Given the description of an element on the screen output the (x, y) to click on. 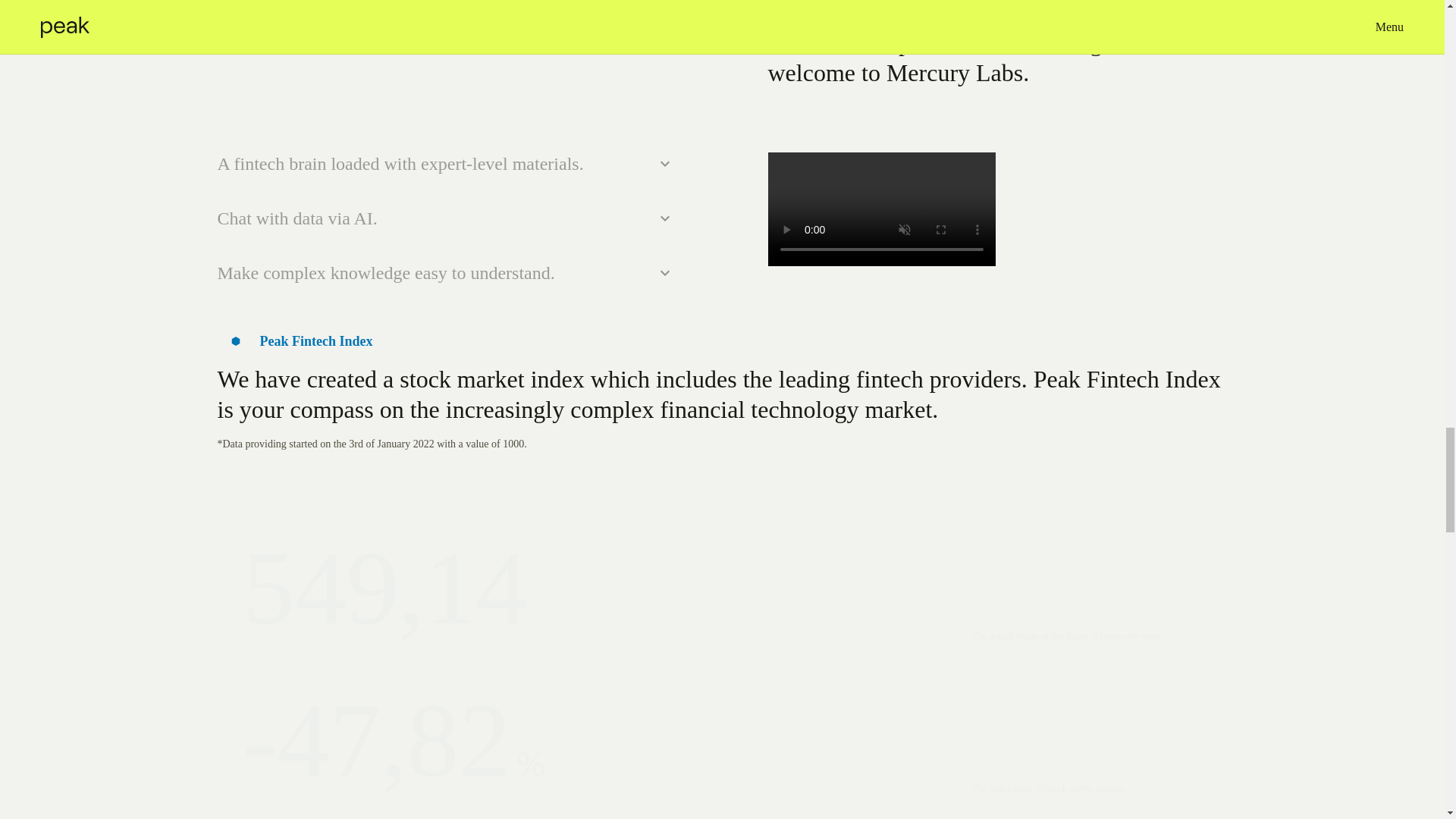
A fintech brain loaded with expert-level materials. (446, 163)
Make complex knowledge easy to understand. (446, 272)
Chat with data via AI. (446, 217)
